Given the description of an element on the screen output the (x, y) to click on. 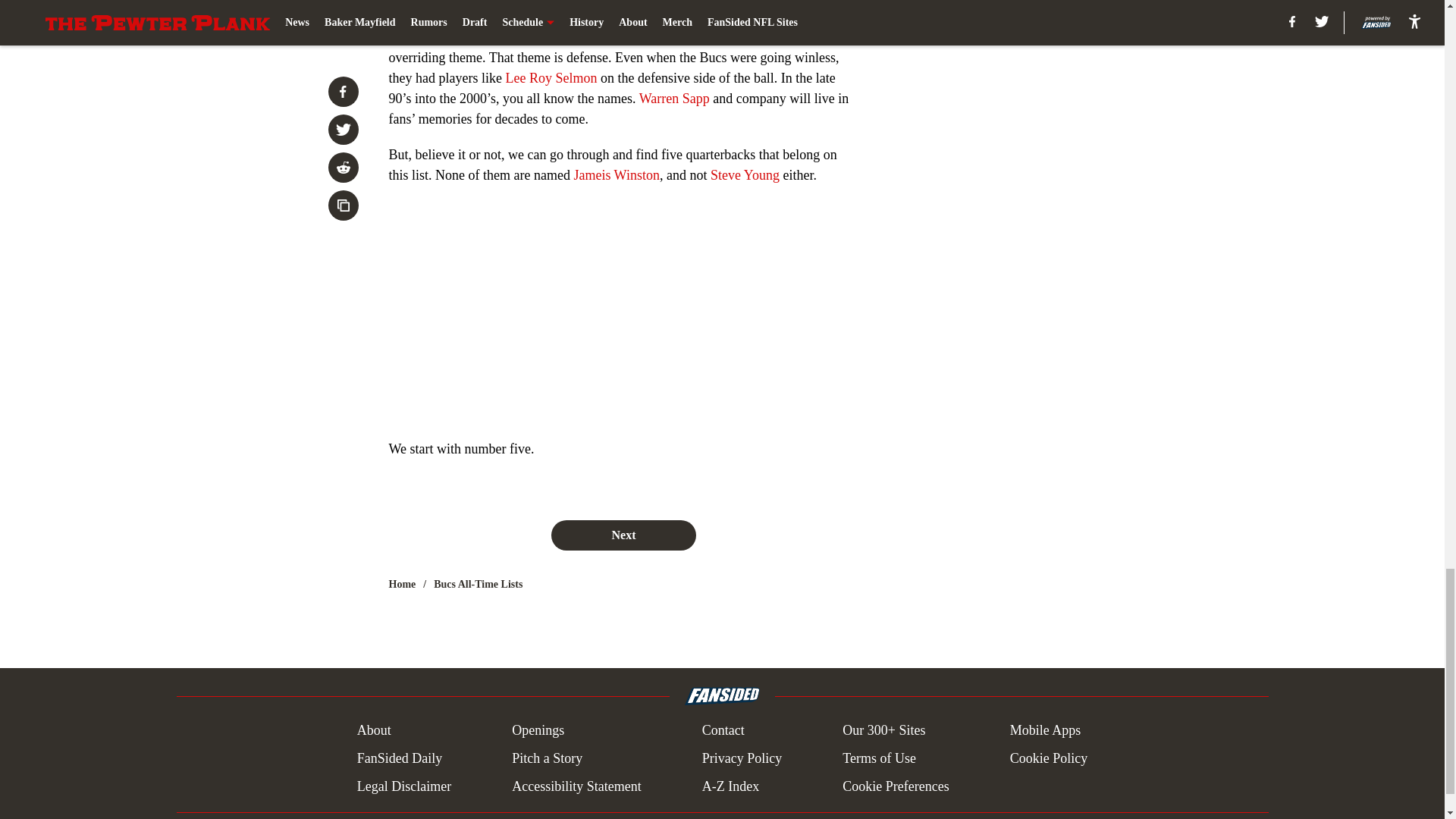
Bucs All-Time Lists (477, 584)
Home (401, 584)
Steve Young (744, 174)
Jameis Winston (616, 174)
About (373, 730)
Lee Roy Selmon (550, 77)
Warren Sapp (674, 98)
Next (622, 535)
